Given the description of an element on the screen output the (x, y) to click on. 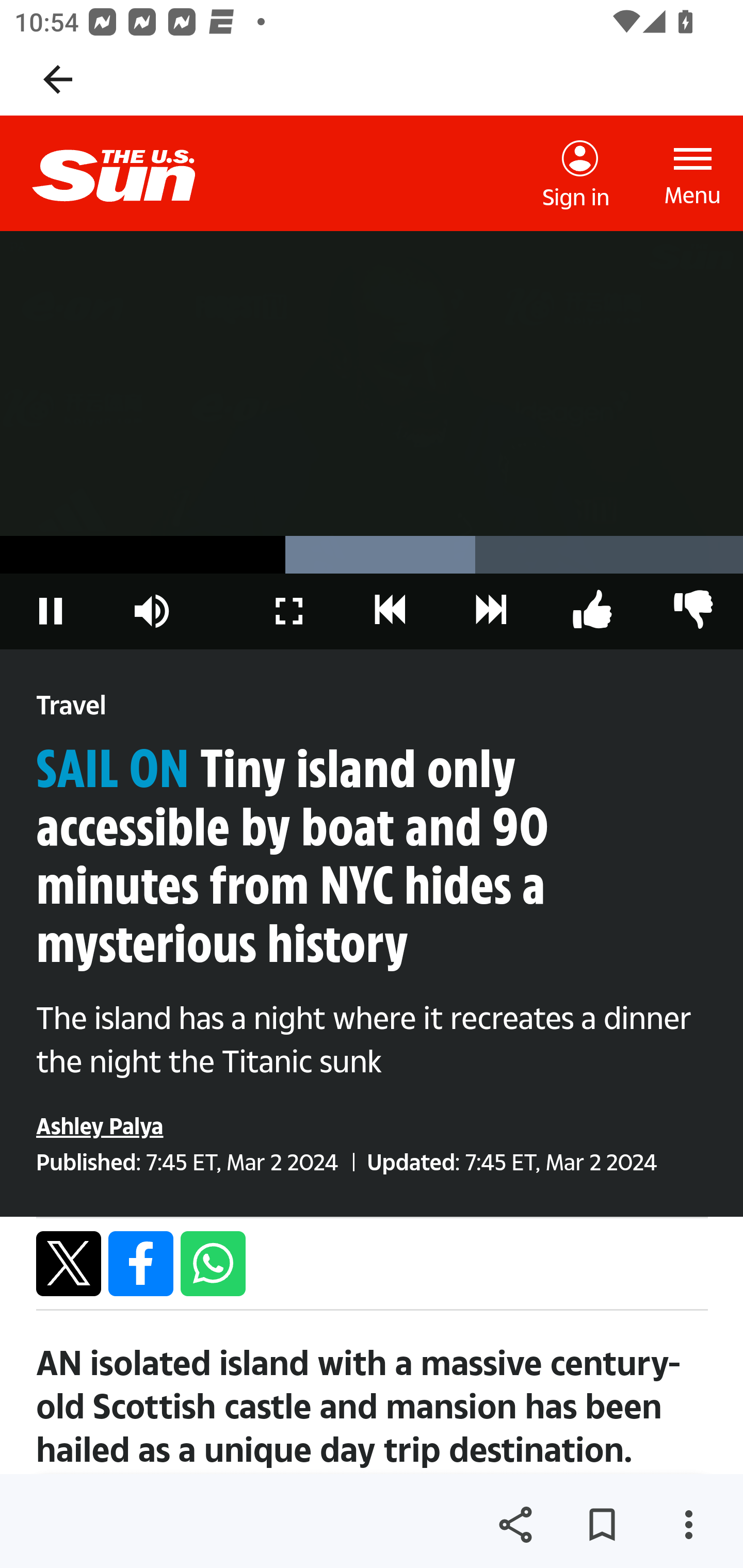
Navigate up (57, 79)
Sign in to The Sun Sign in (576, 173)
The US Sun homepage The Sun (129, 172)
Open Navigation Menu (693, 172)
Pause (51, 610)
Mute (152, 610)
Fullscreen (289, 610)
C (390, 610)
D (490, 610)
B (592, 610)
A (692, 610)
Travel (71, 705)
Posts by Ashley Palya Ashley Palya (100, 1125)
Share by twitter (69, 1262)
Share by facebook (141, 1262)
Share by whatsapp (212, 1262)
Share (514, 1524)
Save for later (601, 1524)
More options (688, 1524)
